Given the description of an element on the screen output the (x, y) to click on. 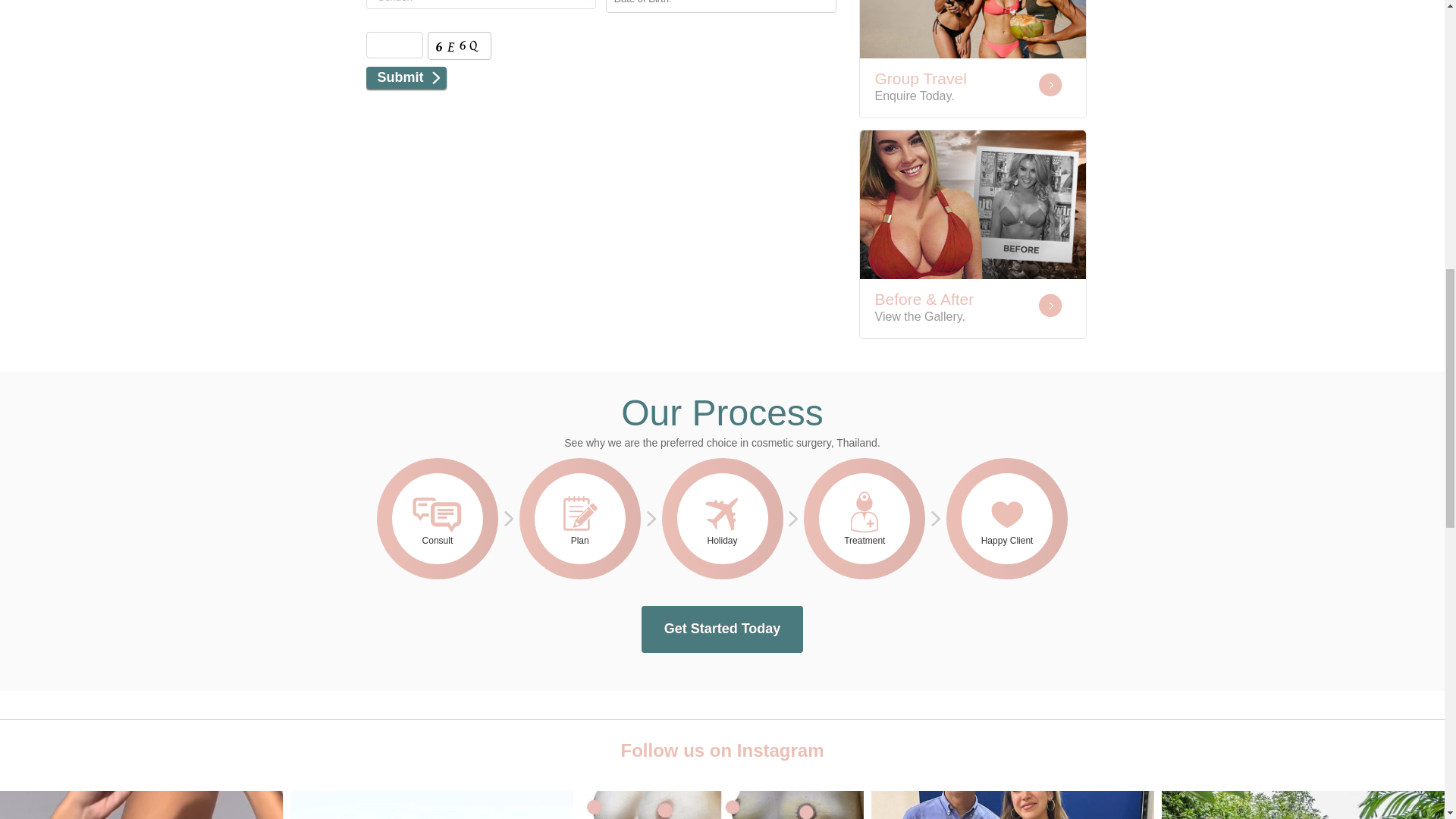
Submit (405, 77)
